Given the description of an element on the screen output the (x, y) to click on. 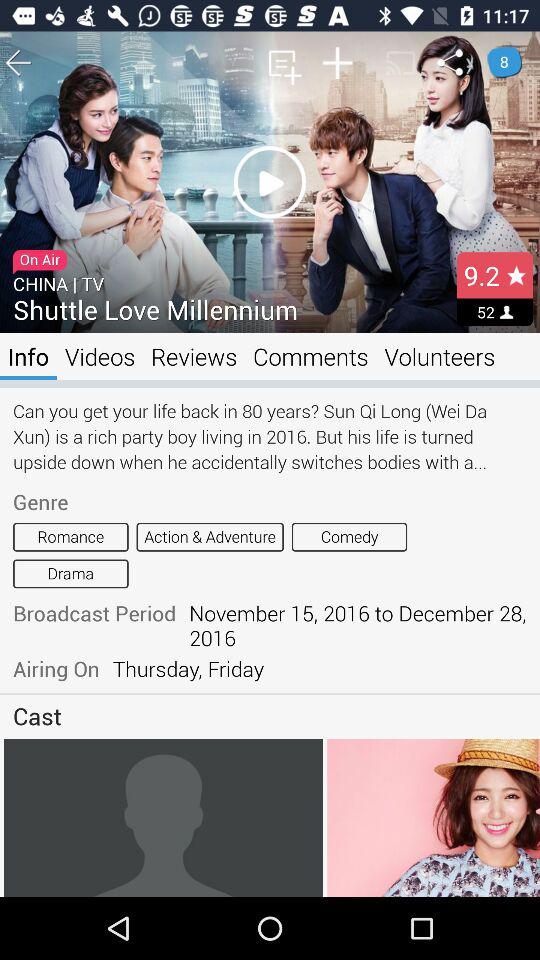
turn on the info app (28, 356)
